Given the description of an element on the screen output the (x, y) to click on. 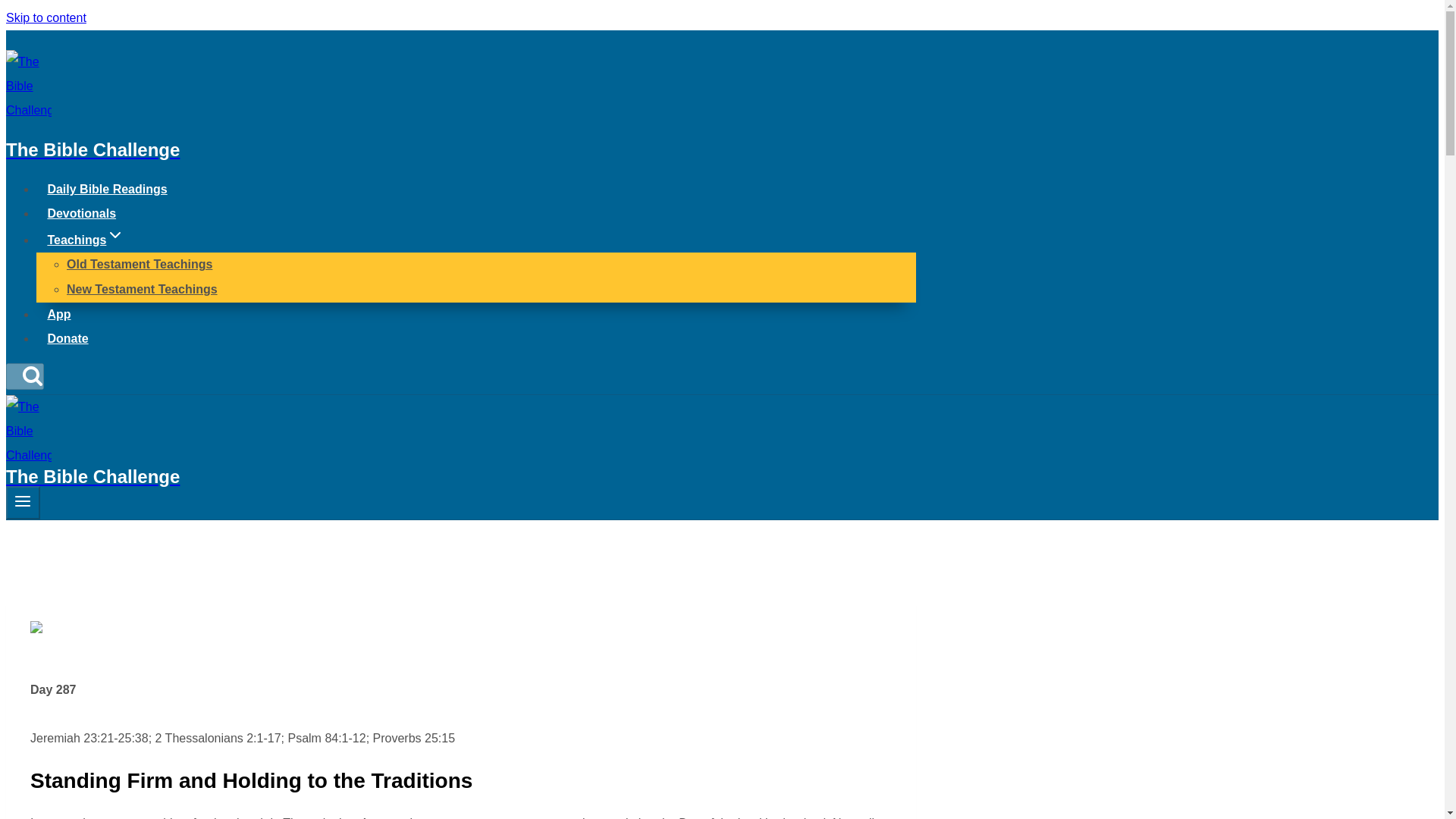
Search (24, 376)
New Testament Teachings (141, 288)
Donate (67, 338)
Toggle Menu (22, 501)
Devotionals (81, 213)
Daily Bible Readings (106, 188)
Skip to content (45, 17)
TeachingsExpand (85, 239)
The Bible Challenge (460, 131)
Search (32, 374)
Toggle Menu (22, 502)
App (58, 314)
Old Testament Teachings (139, 263)
Expand (114, 235)
The Bible Challenge (460, 467)
